Given the description of an element on the screen output the (x, y) to click on. 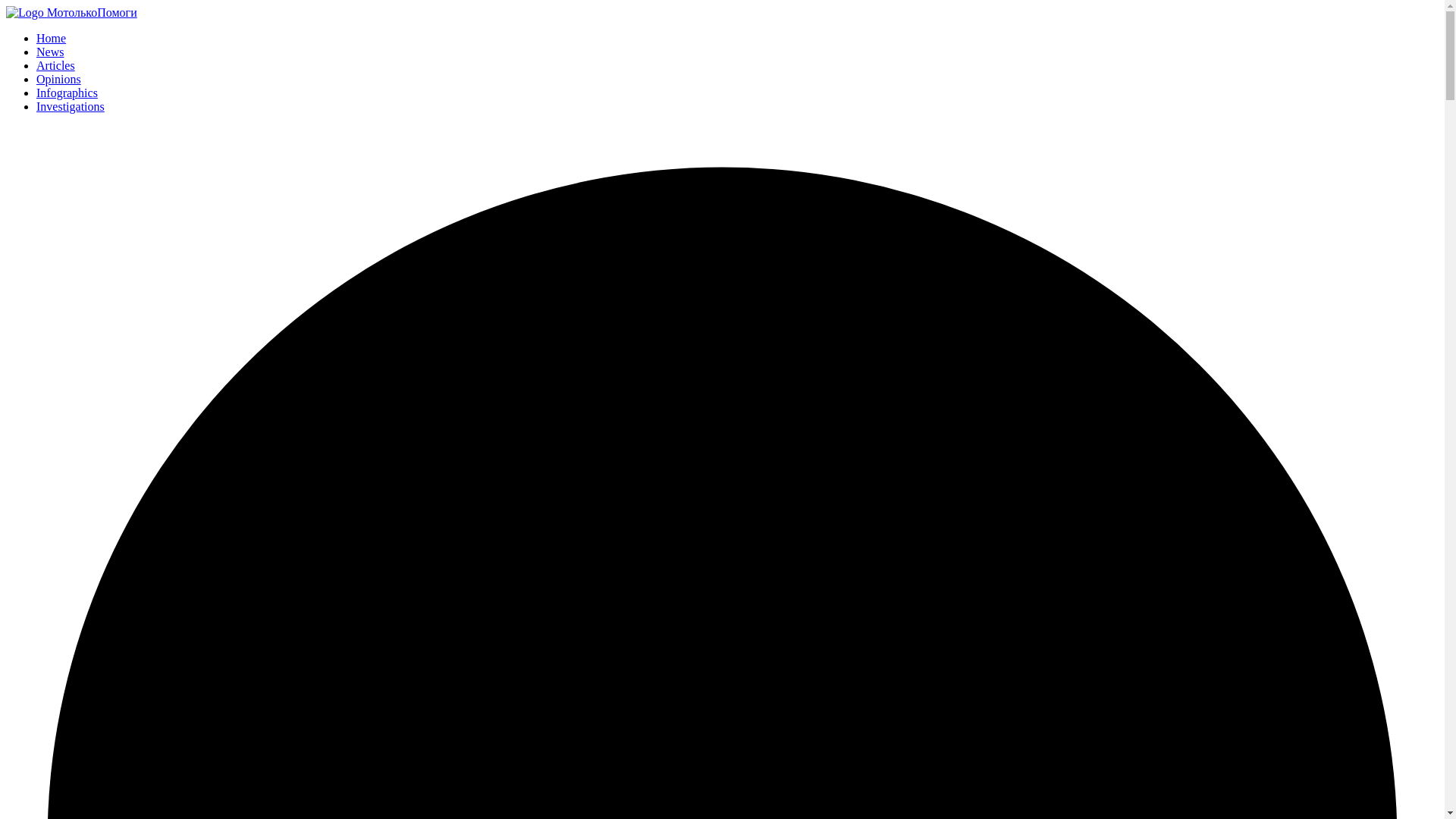
Investigations (70, 106)
Infographics (66, 92)
Opinions (58, 78)
Home (50, 38)
News (50, 51)
Articles (55, 65)
